Given the description of an element on the screen output the (x, y) to click on. 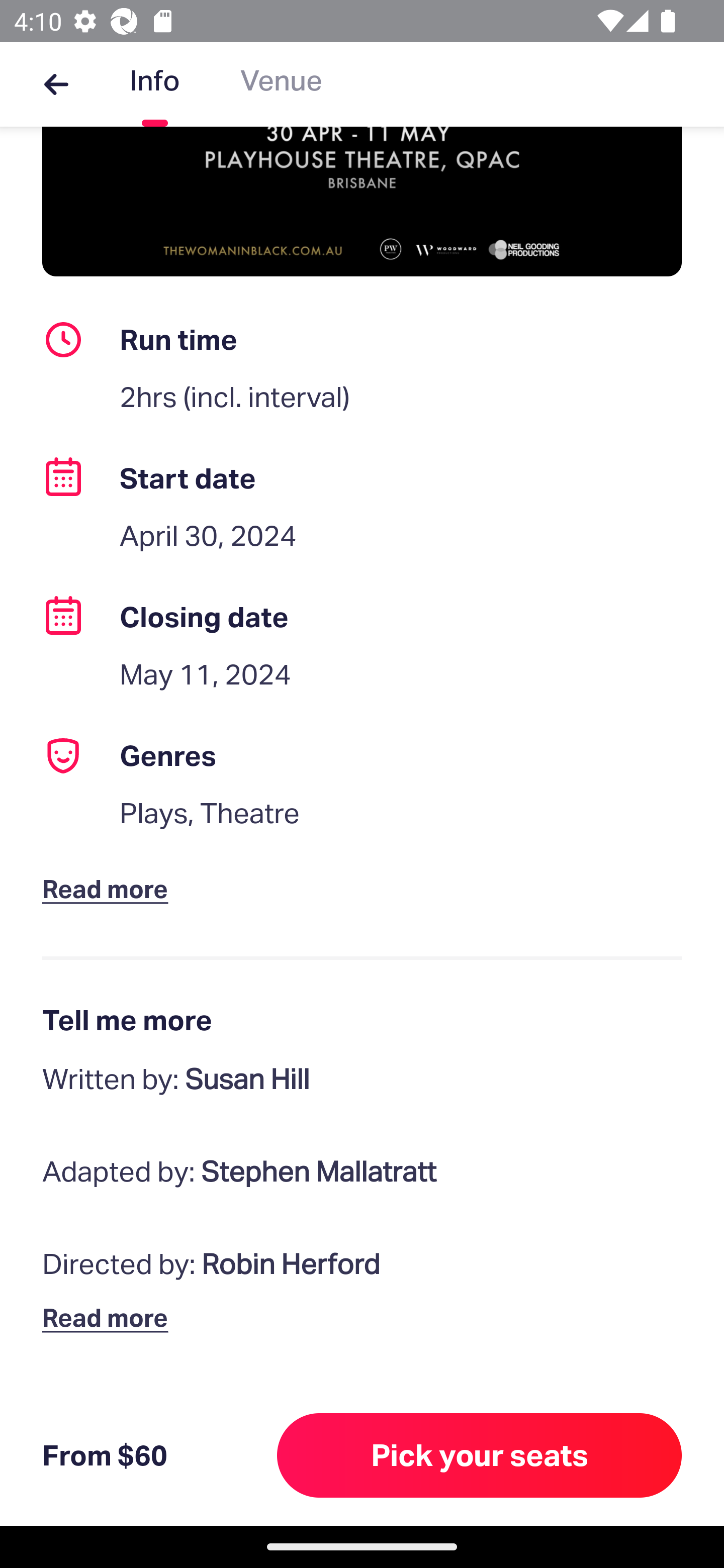
Venue (280, 84)
Read more (109, 872)
Tell me more (361, 1019)
Read more (109, 1317)
Pick your seats (479, 1454)
